Given the description of an element on the screen output the (x, y) to click on. 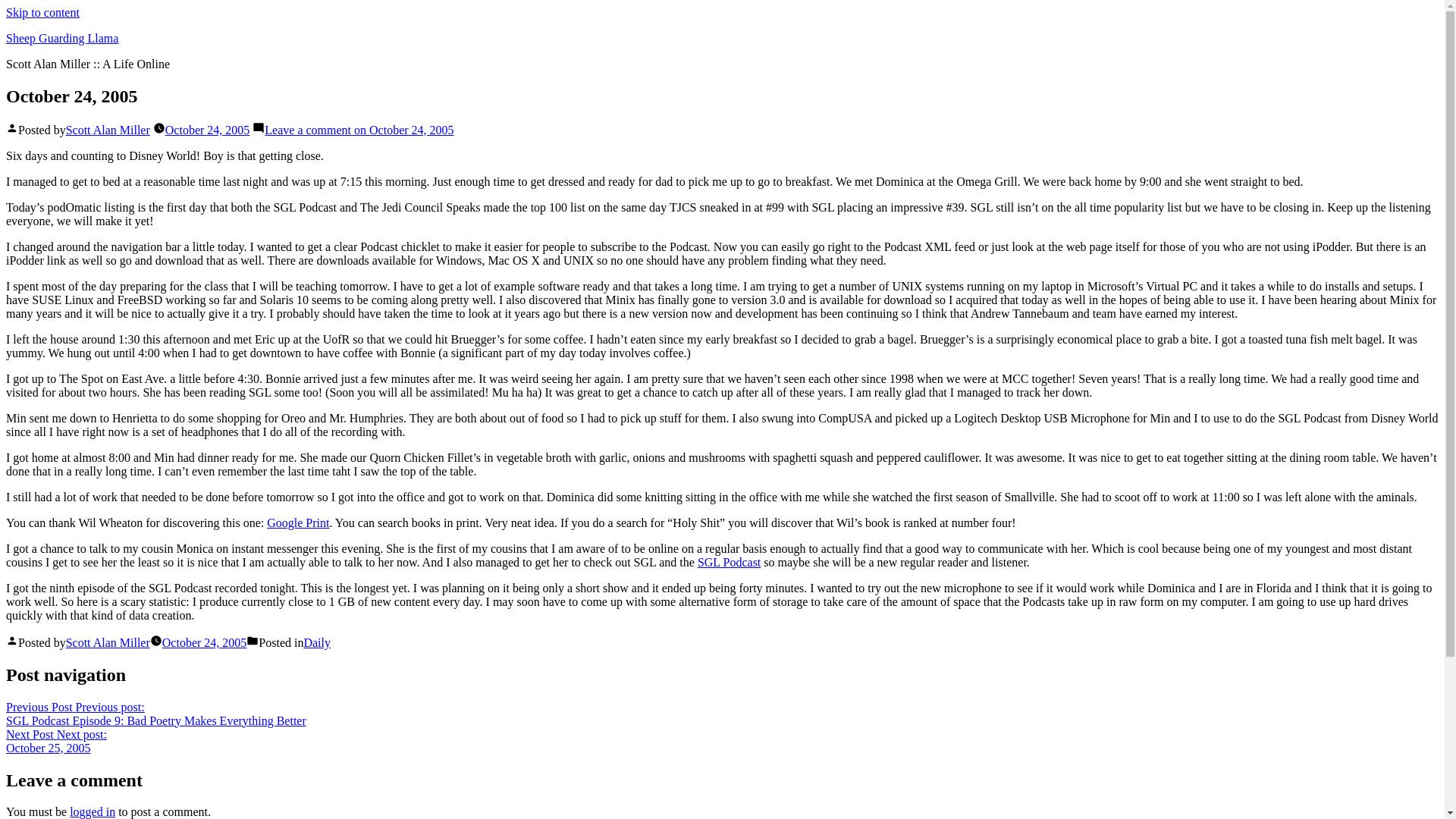
Leave a comment on October 24, 2005 (358, 129)
Skip to content (42, 11)
October 24, 2005 (55, 741)
October 24, 2005 (204, 642)
SGL Podcast (207, 129)
Sheep Guarding Llama (728, 562)
Daily (61, 38)
logged in (316, 642)
Google Print (92, 811)
Scott Alan Miller (297, 522)
Scott Alan Miller (107, 642)
